Given the description of an element on the screen output the (x, y) to click on. 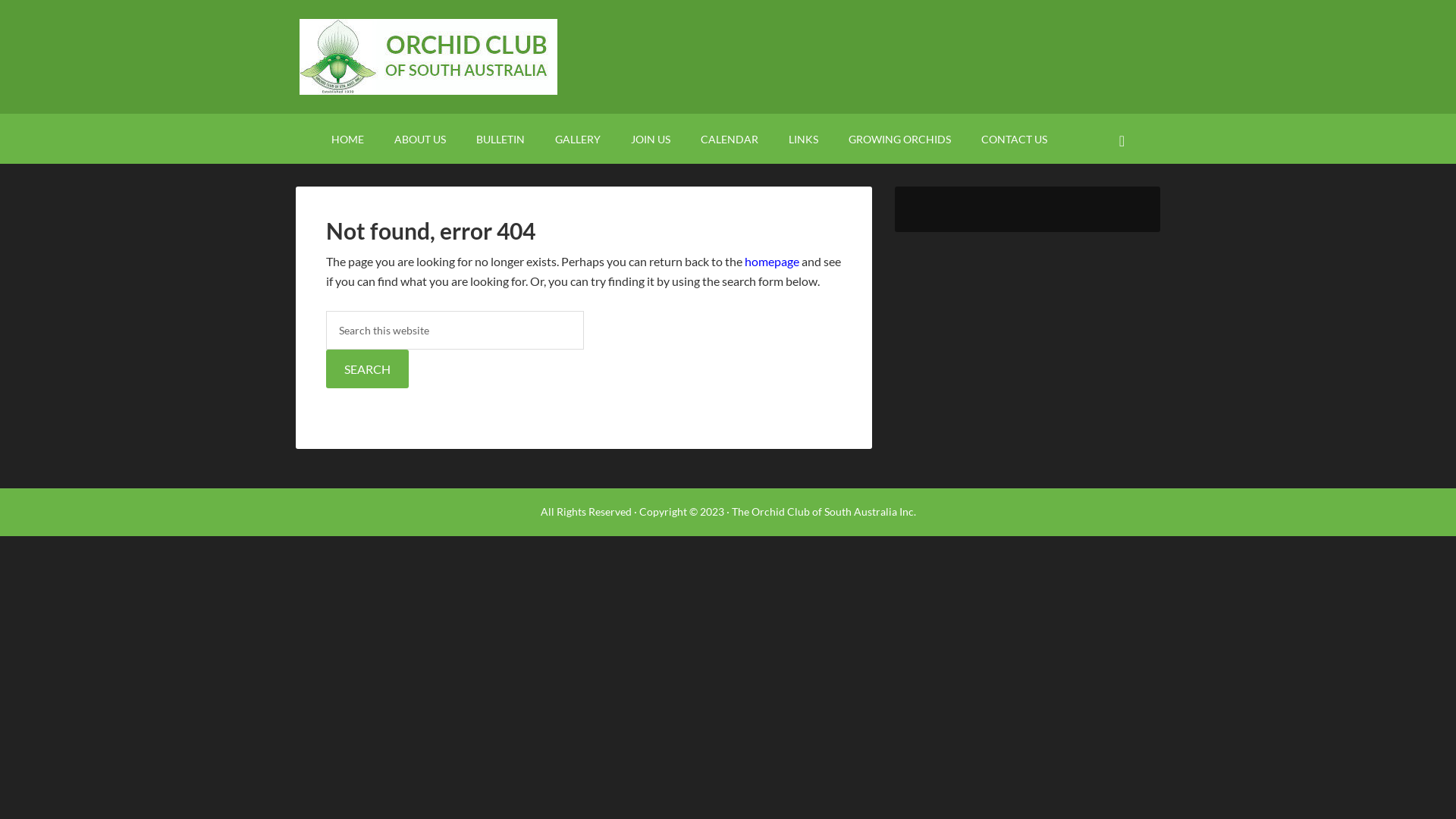
Search Element type: text (367, 368)
CONTACT US Element type: text (1014, 138)
GALLERY Element type: text (577, 138)
ORCHID CLUB OF SOUTH AUSTRALIA INC. Element type: text (727, 56)
ABOUT US Element type: text (420, 138)
LINKS Element type: text (803, 138)
homepage Element type: text (771, 261)
BULLETIN Element type: text (500, 138)
CALENDAR Element type: text (729, 138)
JOIN US Element type: text (650, 138)
GROWING ORCHIDS Element type: text (899, 138)
HOME Element type: text (347, 138)
Search Element type: text (1139, 128)
